Given the description of an element on the screen output the (x, y) to click on. 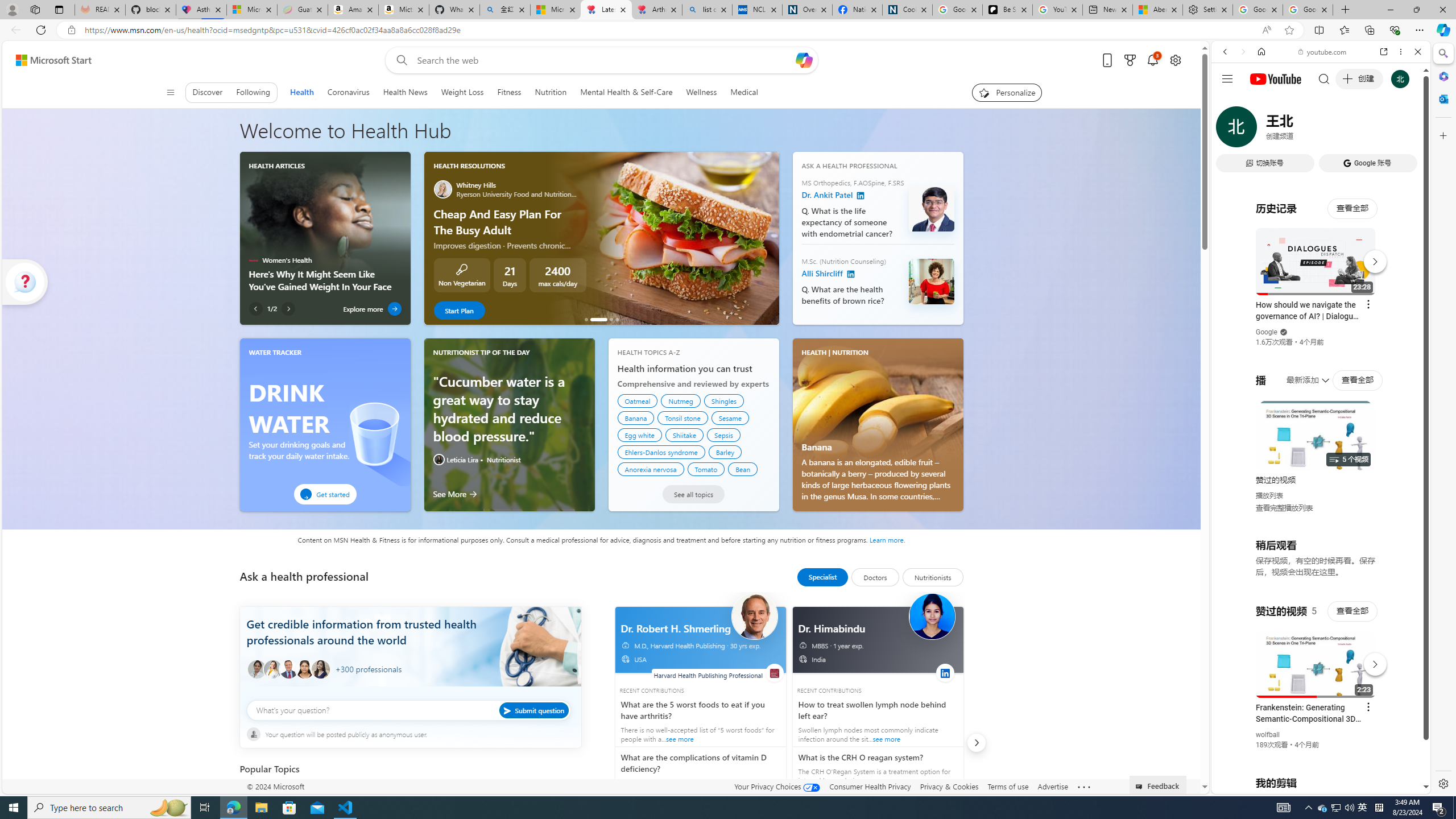
Your Privacy Choices (777, 785)
Cheap And Easy Plan For The Busy Adult (663, 238)
LinkedIn (944, 673)
HEALTH ARTICLES (276, 165)
Asthma Inhalers: Names and Types (201, 9)
see more (875, 769)
Alli Shircliff (850, 274)
Alli Shircliff (930, 281)
Submit question (534, 710)
Women's Health (252, 260)
